Given the description of an element on the screen output the (x, y) to click on. 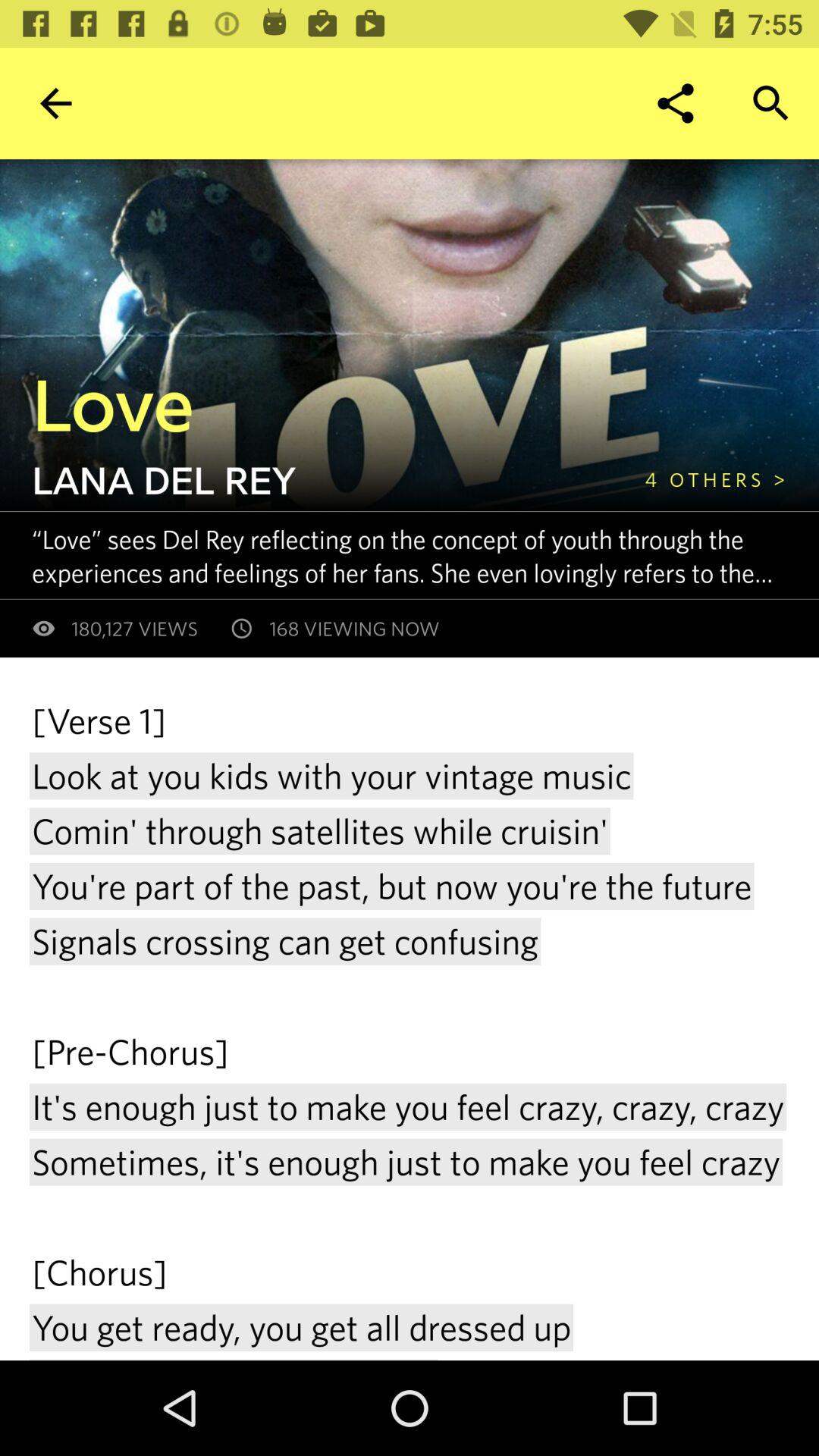
turn off the icon at the top left corner (55, 103)
